Given the description of an element on the screen output the (x, y) to click on. 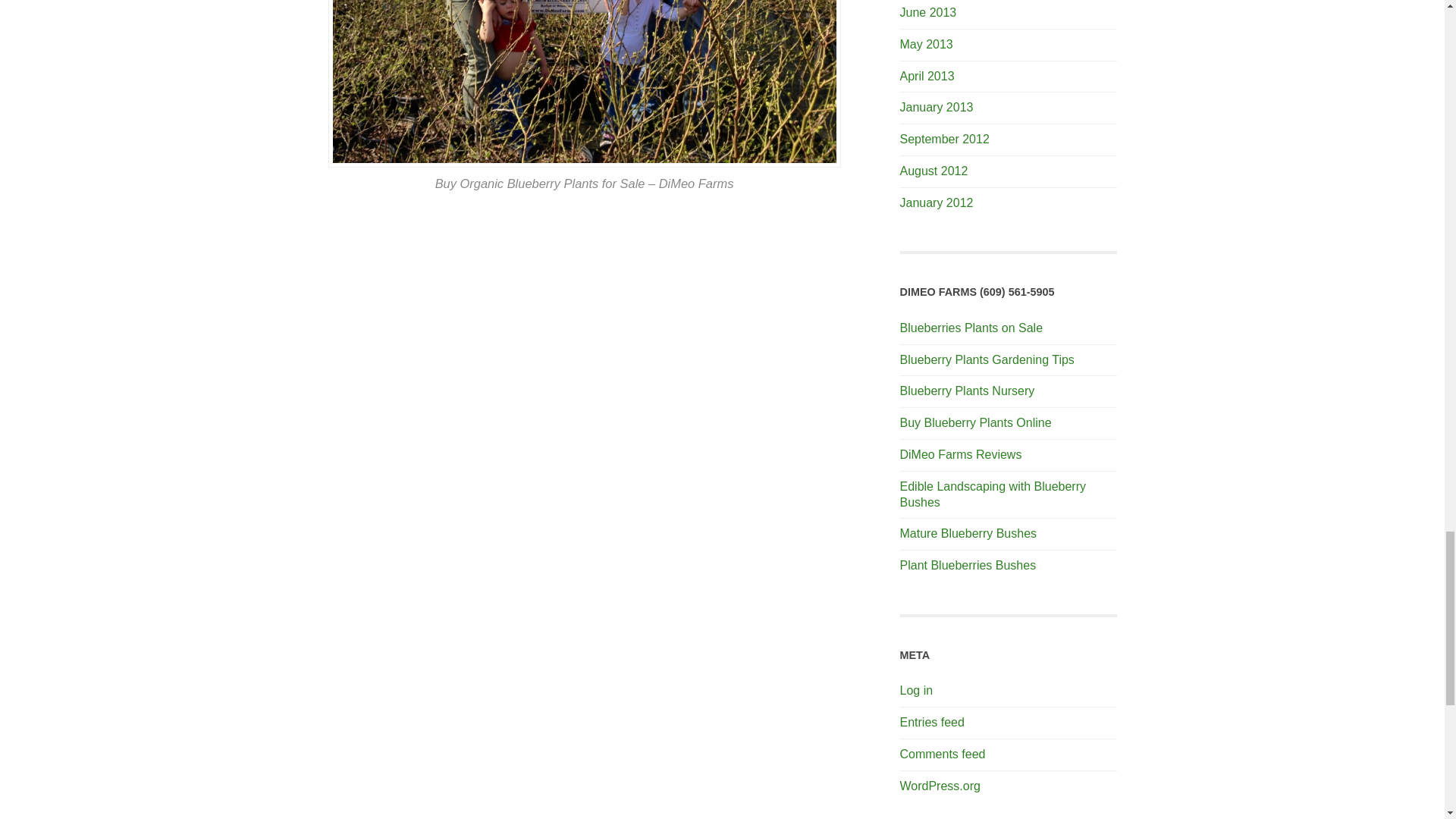
photo (583, 83)
